Given the description of an element on the screen output the (x, y) to click on. 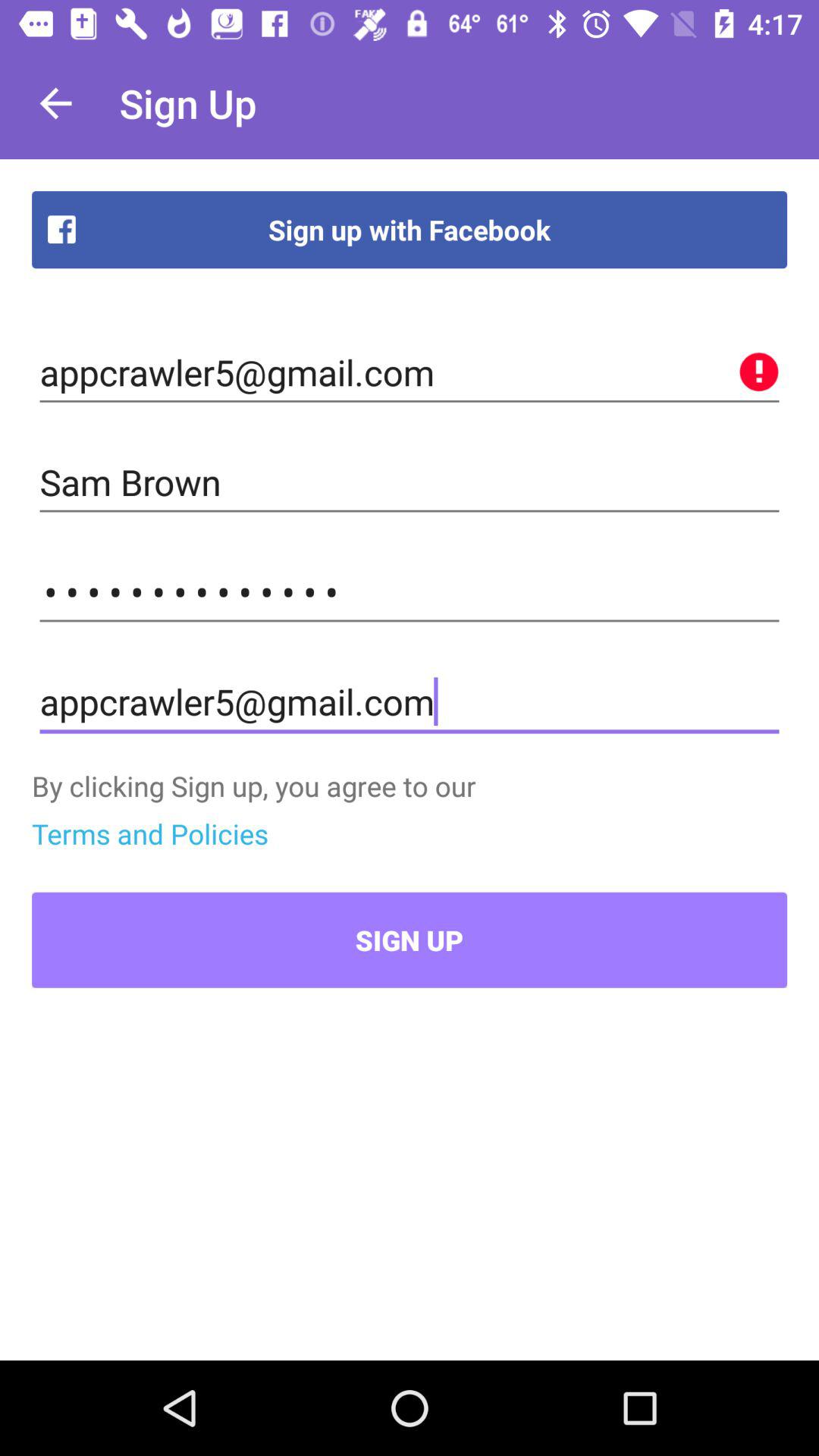
turn on the icon above appcrawler3116 item (409, 482)
